Given the description of an element on the screen output the (x, y) to click on. 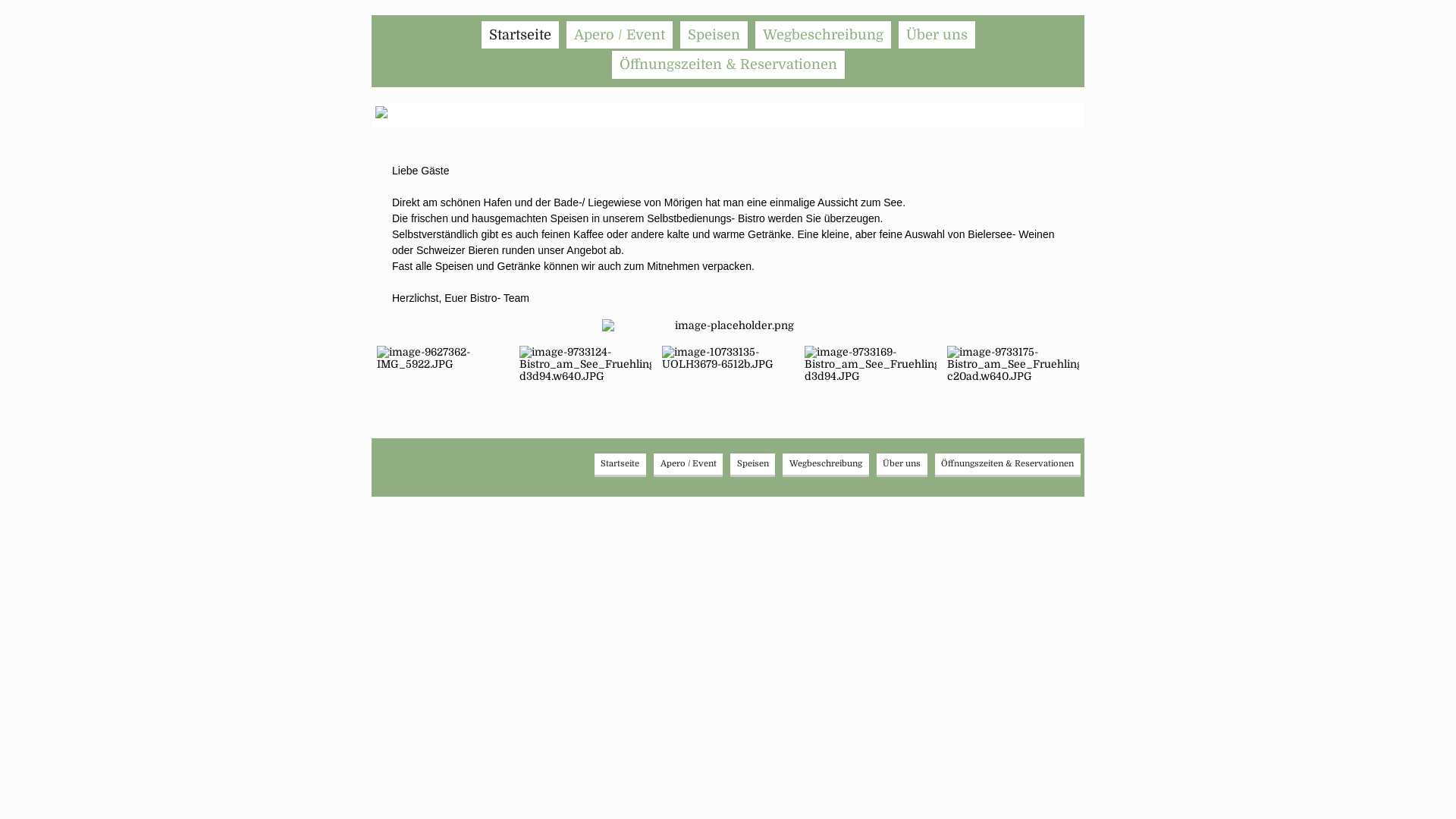
Apero / Event Element type: text (618, 34)
Startseite Element type: text (519, 34)
Wegbeschreibung Element type: text (825, 463)
Speisen Element type: text (712, 34)
Speisen Element type: text (752, 463)
Wegbeschreibung Element type: text (823, 34)
Startseite Element type: text (619, 463)
Apero / Event Element type: text (688, 463)
